Given the description of an element on the screen output the (x, y) to click on. 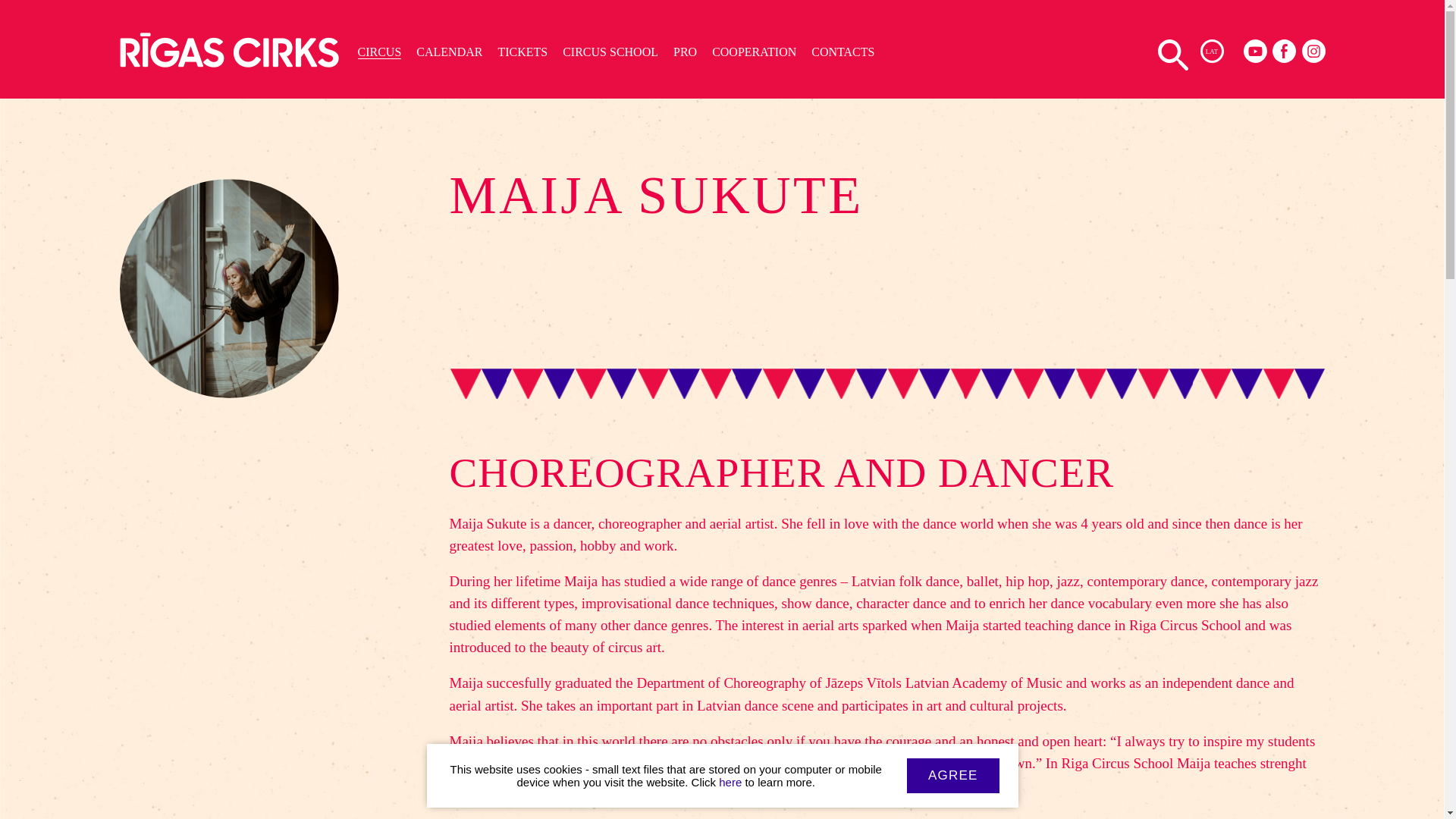
COOPERATION (753, 51)
CONTACTS (842, 51)
CALENDAR (448, 51)
LAT (1211, 51)
CIRCUS (379, 51)
CIRCUS SCHOOL (610, 51)
PRO (684, 51)
TICKETS (522, 51)
